Given the description of an element on the screen output the (x, y) to click on. 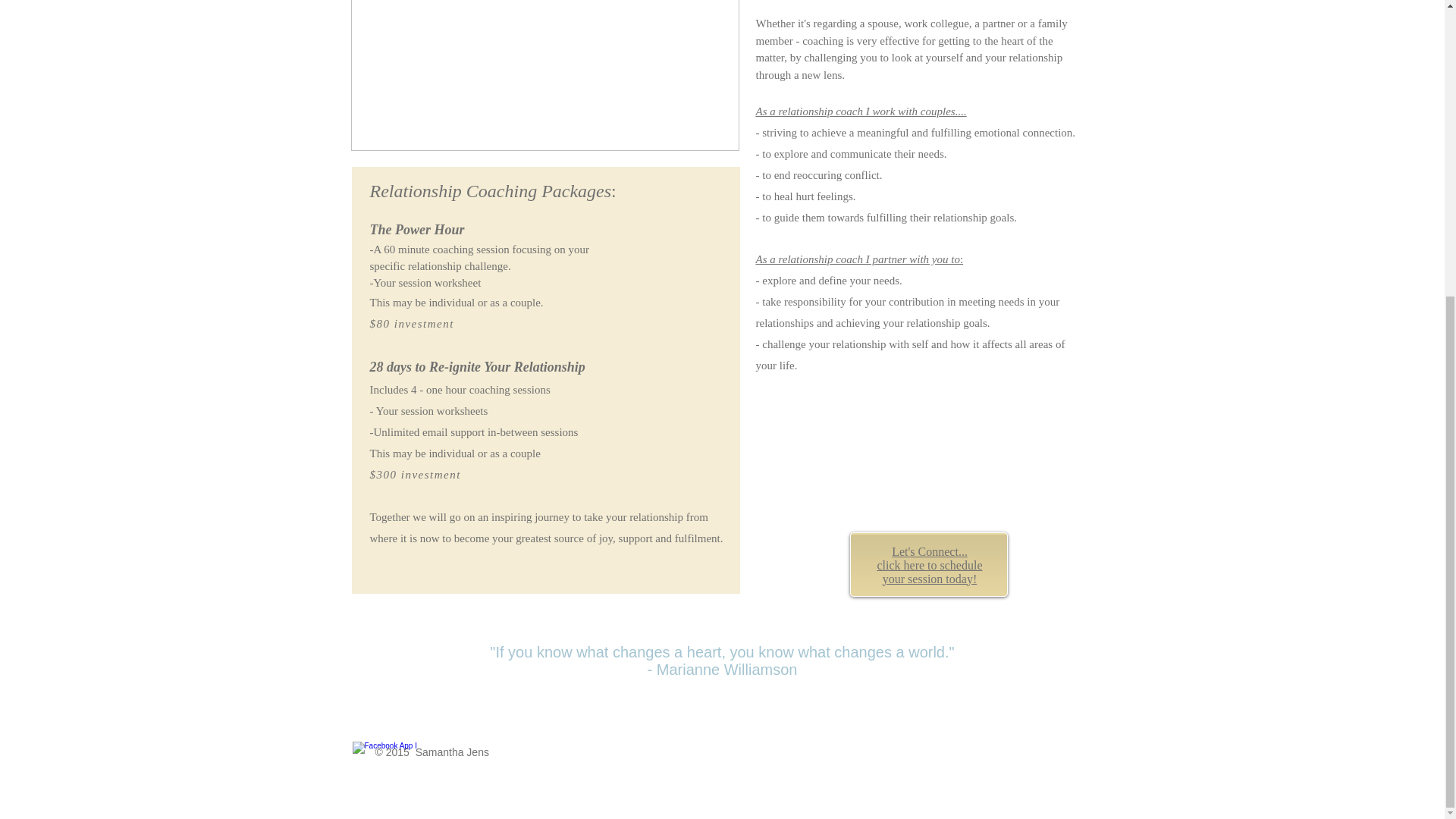
your session today! (929, 578)
Let's Connect... (929, 551)
click here to schedule (928, 564)
relationshipCoach.png (544, 75)
